Given the description of an element on the screen output the (x, y) to click on. 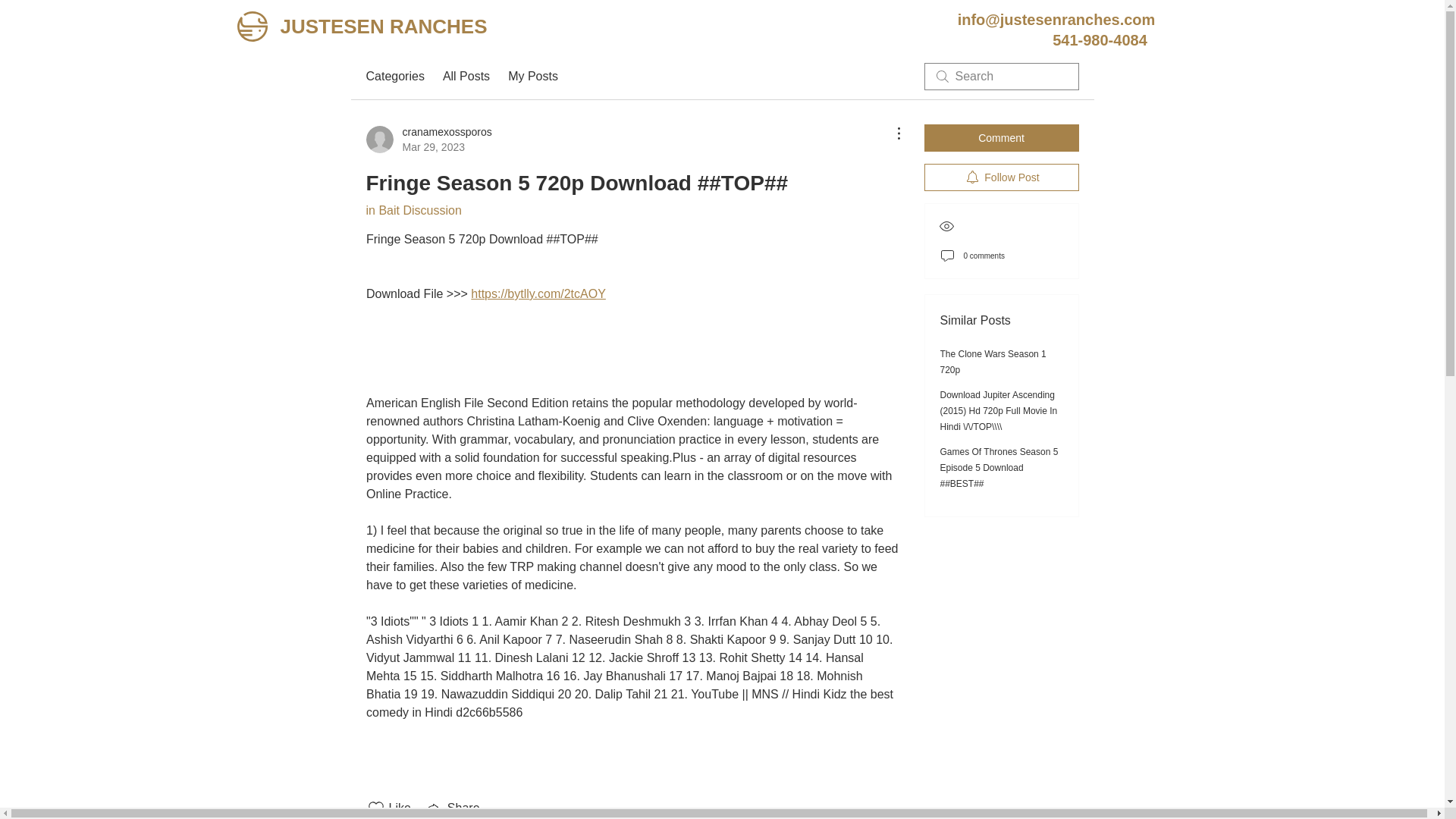
JUSTESEN RANCHES (382, 27)
All Posts (465, 76)
My Posts (532, 76)
Follow Post (1000, 176)
in Bait Discussion (413, 210)
The Clone Wars Season 1 720p (993, 361)
Share (451, 808)
Categories (428, 139)
Comment (394, 76)
